Given the description of an element on the screen output the (x, y) to click on. 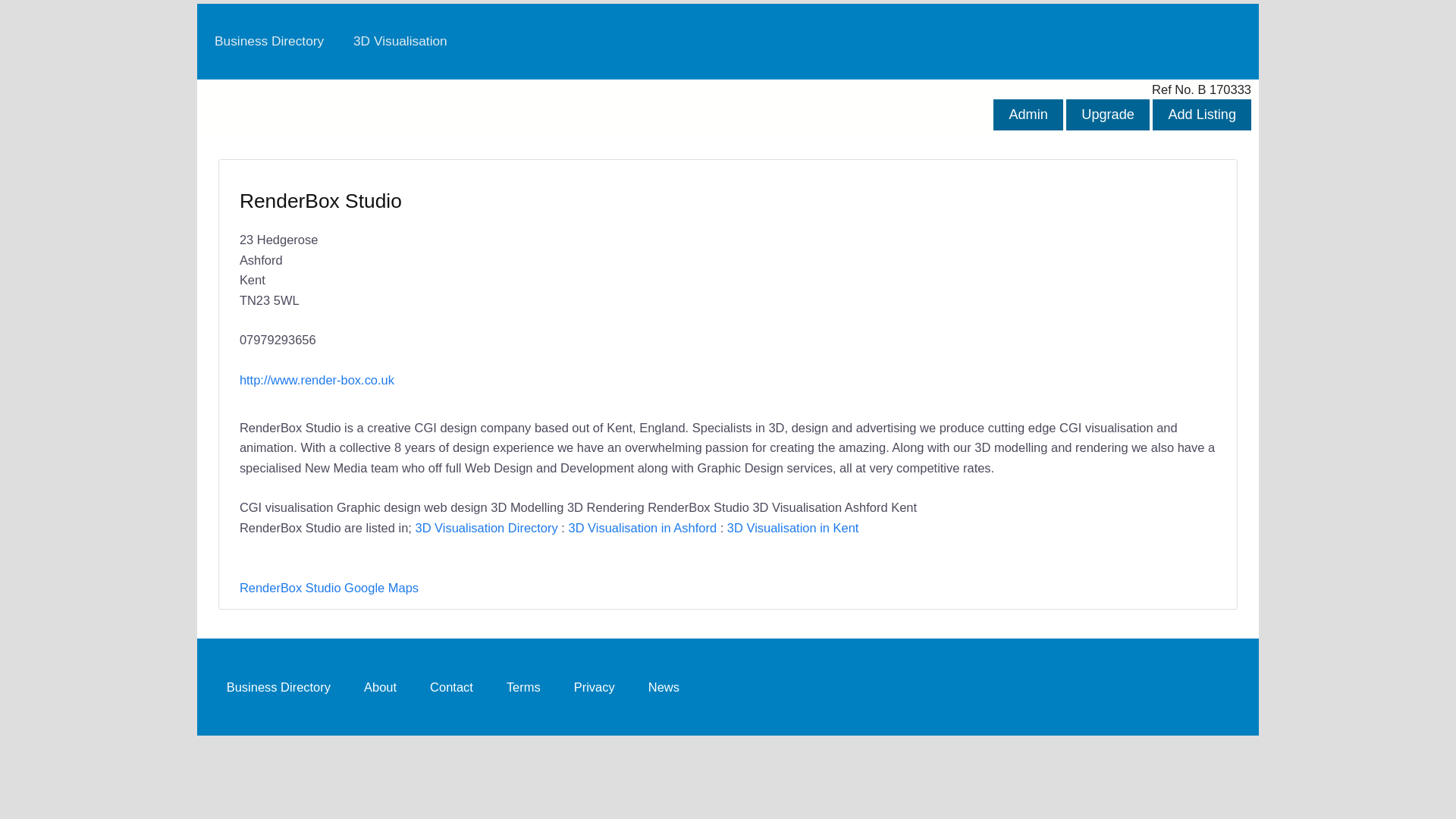
RenderBox Studio Google Maps (329, 587)
Admin (1027, 114)
Add Listing (1201, 114)
Business Directory (277, 686)
3D Visualisation (400, 40)
3D Visualisation in Ashford (641, 527)
Upgrade (1106, 114)
About (379, 686)
Admin (1027, 114)
News (663, 686)
